Given the description of an element on the screen output the (x, y) to click on. 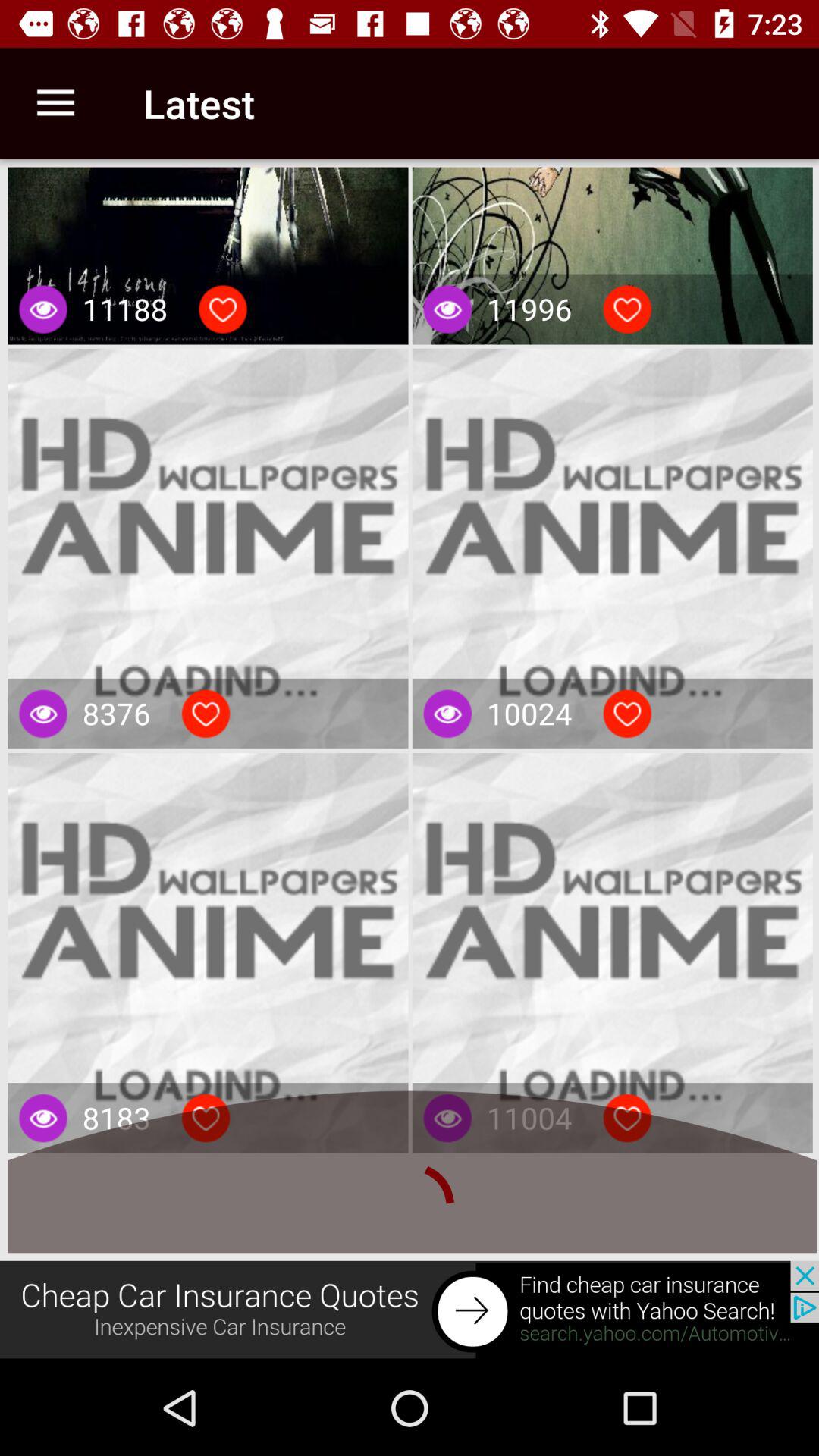
like button (222, 309)
